Given the description of an element on the screen output the (x, y) to click on. 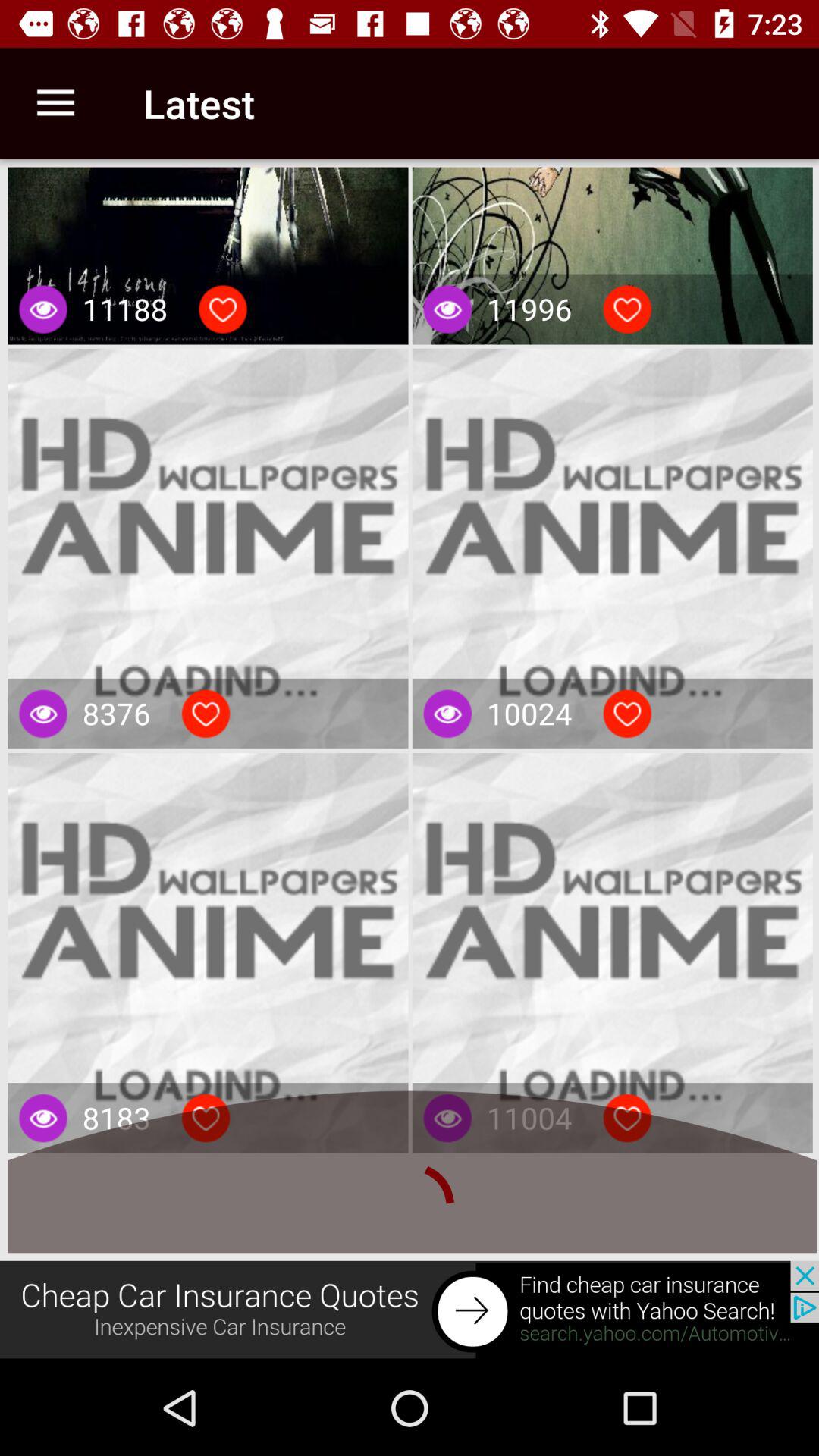
like button (222, 309)
